Given the description of an element on the screen output the (x, y) to click on. 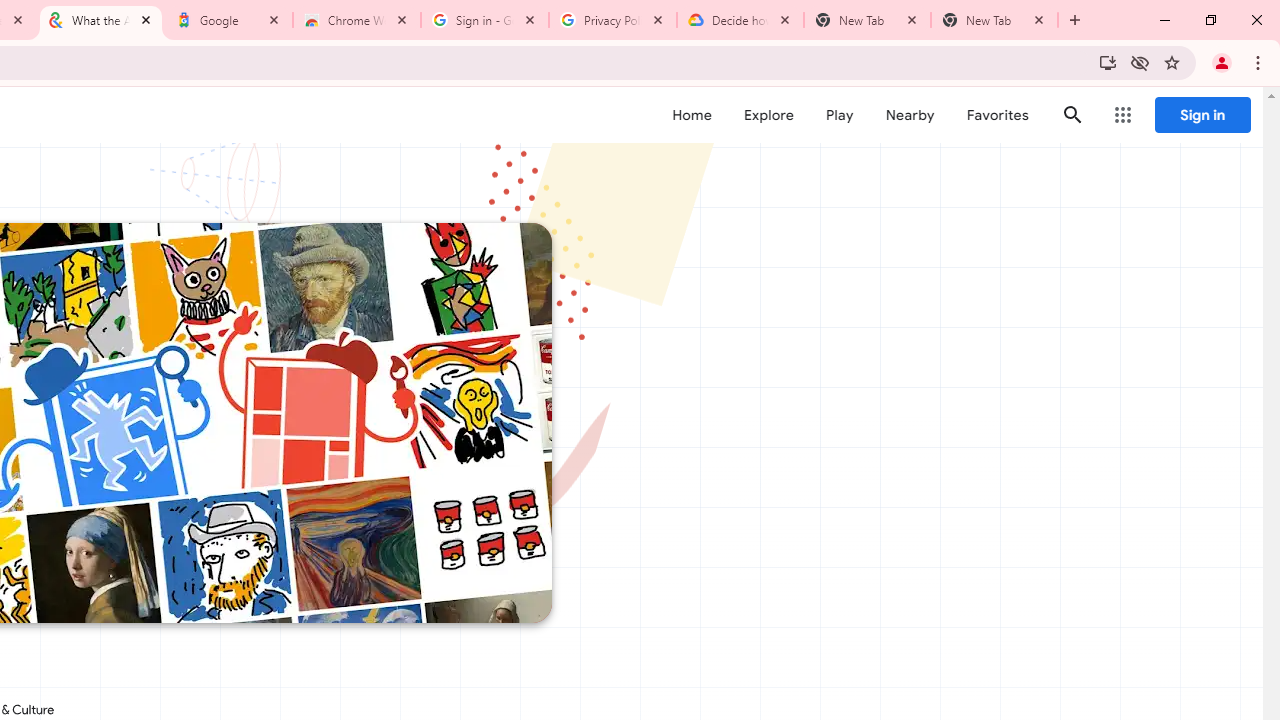
You (1221, 62)
Chrome (1260, 62)
Google apps (1123, 115)
Close (1039, 19)
Install Google Arts & Culture (1107, 62)
Bookmark this tab (1171, 62)
Explore (768, 115)
Search (1072, 114)
Minimize (1165, 20)
Sign in - Google Accounts (485, 20)
Restore (1210, 20)
Quit Game (1222, 126)
Chrome Web Store - Color themes by Chrome (357, 20)
